Given the description of an element on the screen output the (x, y) to click on. 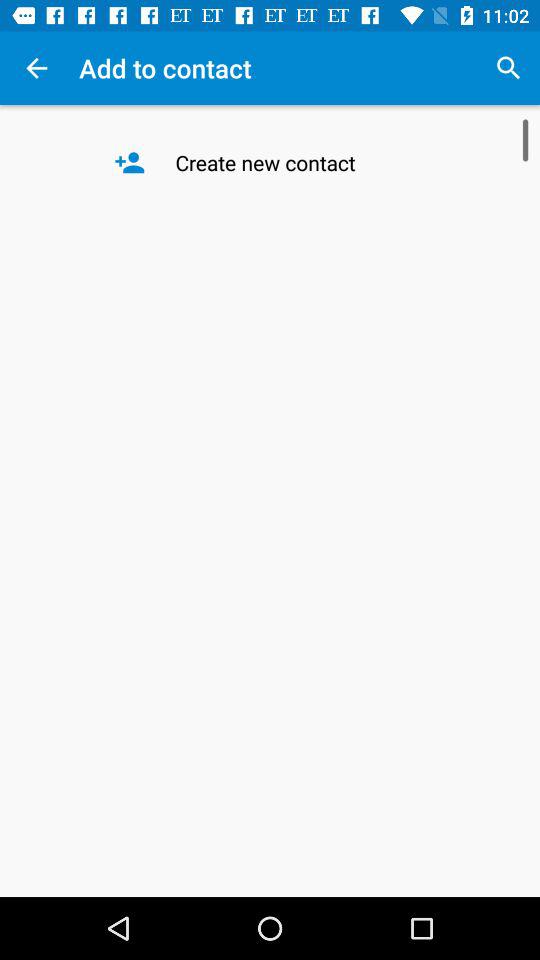
launch the item at the top right corner (508, 67)
